Given the description of an element on the screen output the (x, y) to click on. 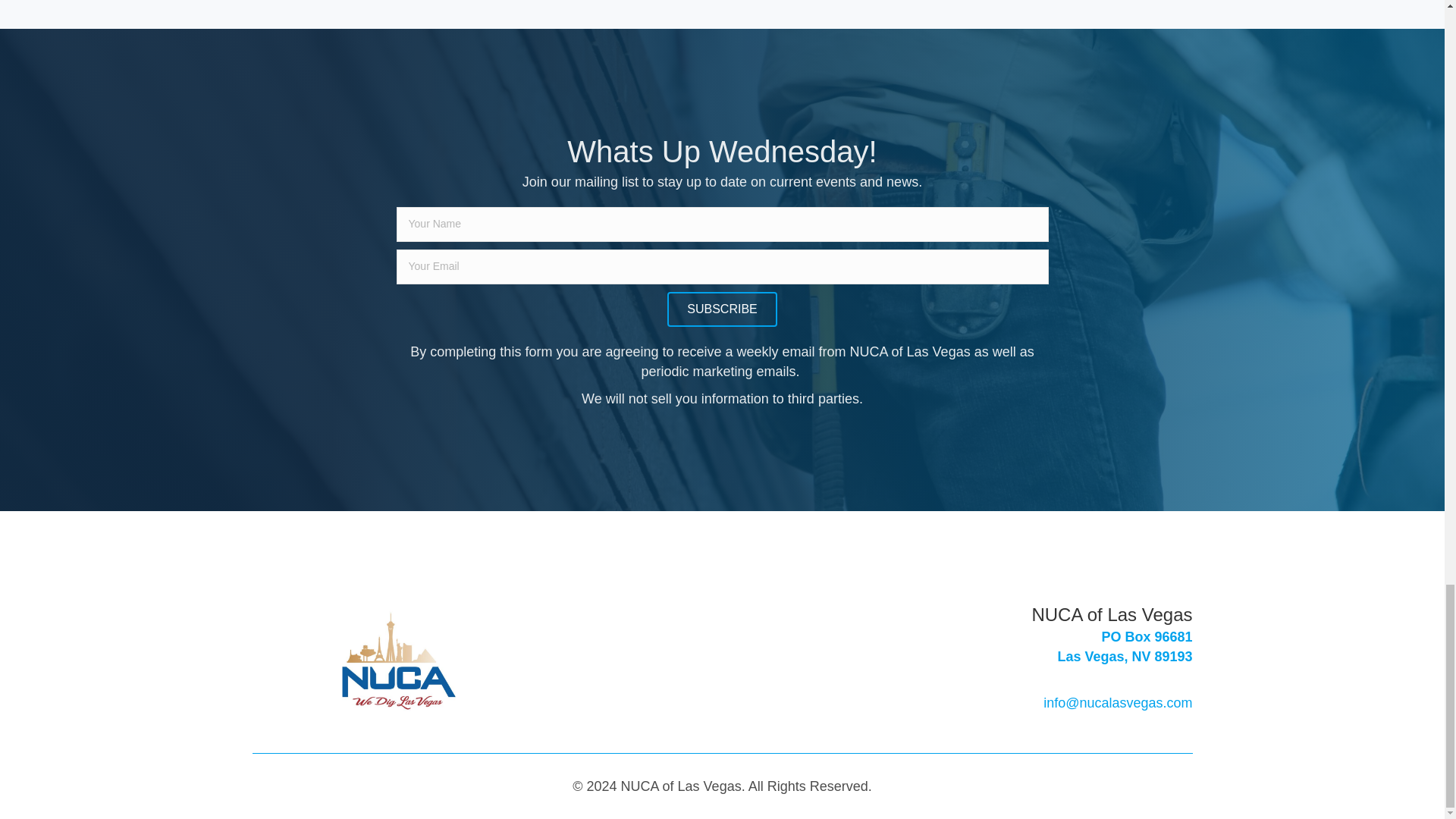
Print (398, 660)
SUBSCRIBE (1124, 656)
